Given the description of an element on the screen output the (x, y) to click on. 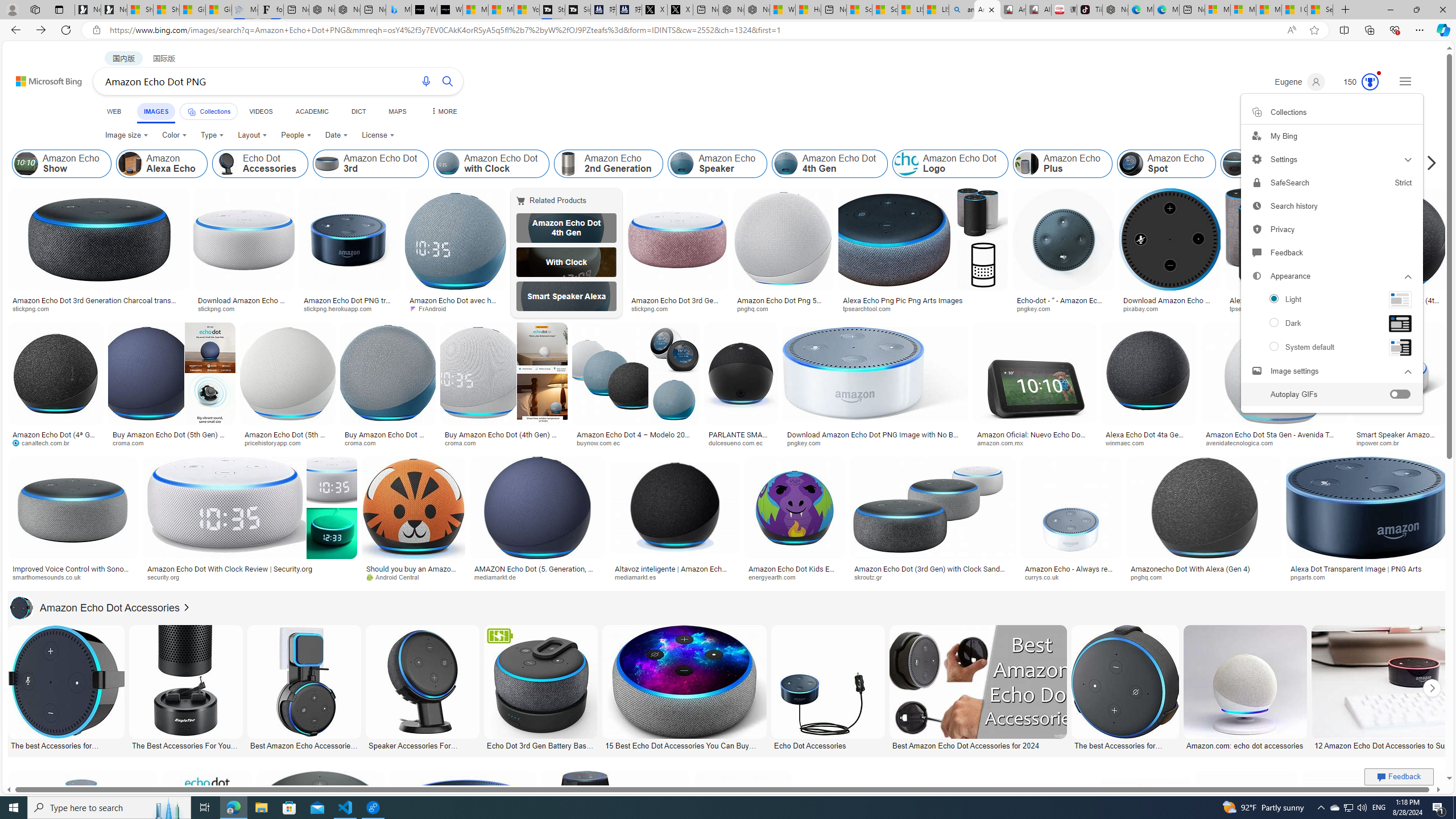
Amazon Echo Dot With Clock Review | Security.org (230, 568)
Date (336, 135)
Class: hbic_saves (1256, 111)
Search button (447, 80)
People (295, 135)
WEB (114, 111)
dulcesueno.com.ec (741, 442)
Amazon Echo Spot (1130, 163)
Smart Speaker Alexa (565, 296)
License (378, 135)
